Given the description of an element on the screen output the (x, y) to click on. 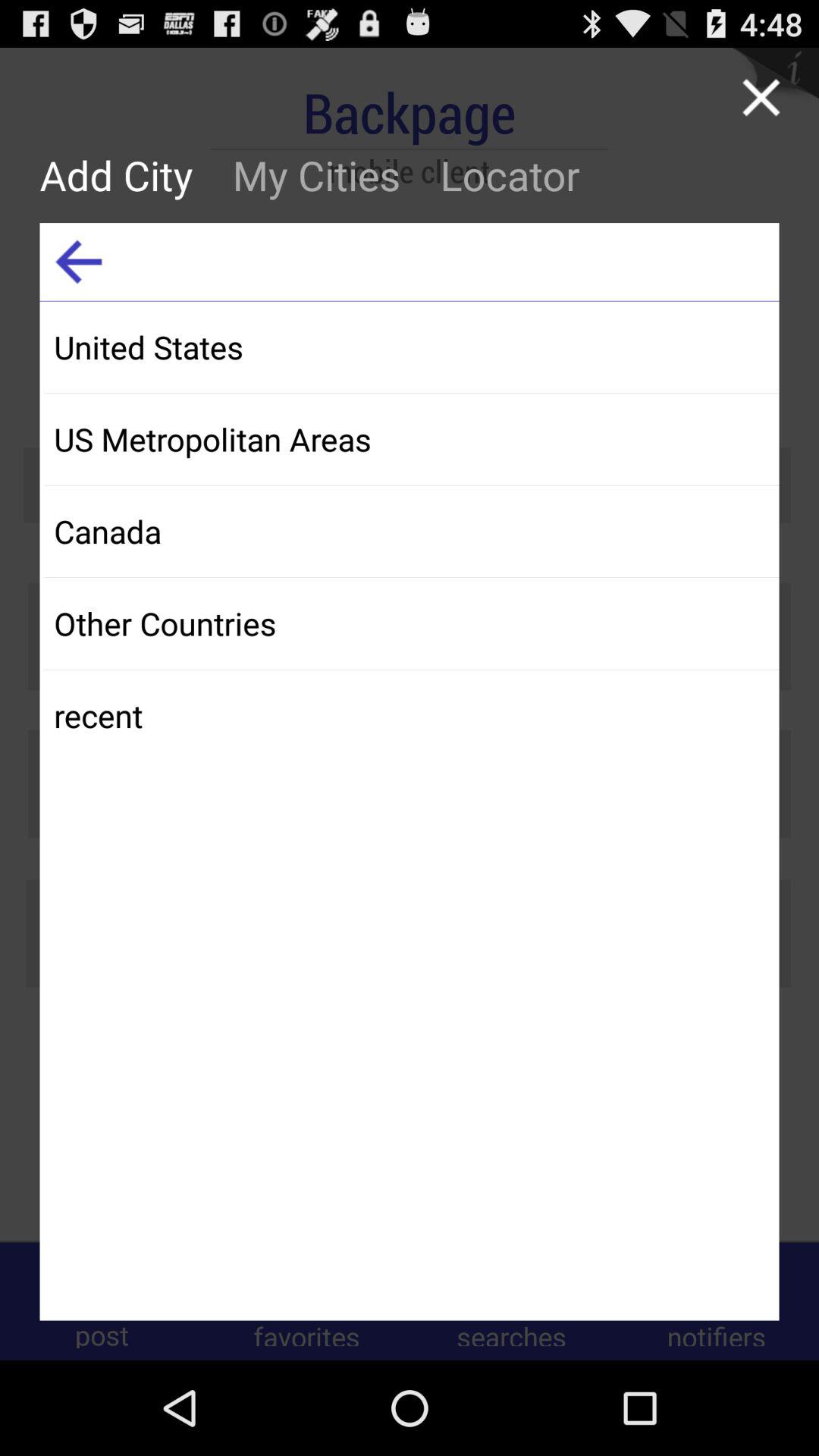
close the page (761, 97)
